Given the description of an element on the screen output the (x, y) to click on. 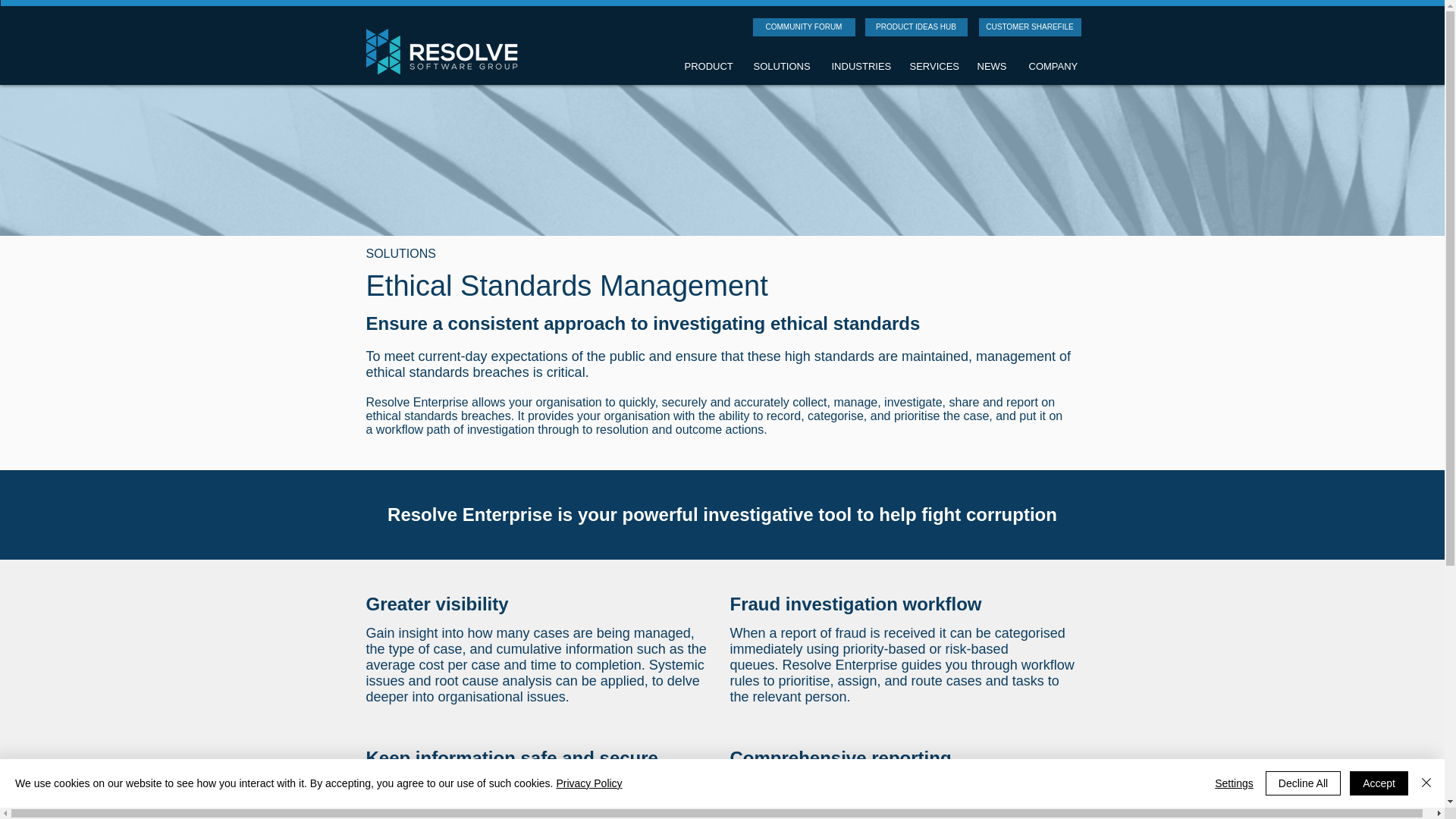
NEWS (994, 66)
COMMUNITY FORUM (803, 27)
PRODUCT IDEAS HUB (915, 27)
CUSTOMER SHAREFILE (1029, 27)
